Given the description of an element on the screen output the (x, y) to click on. 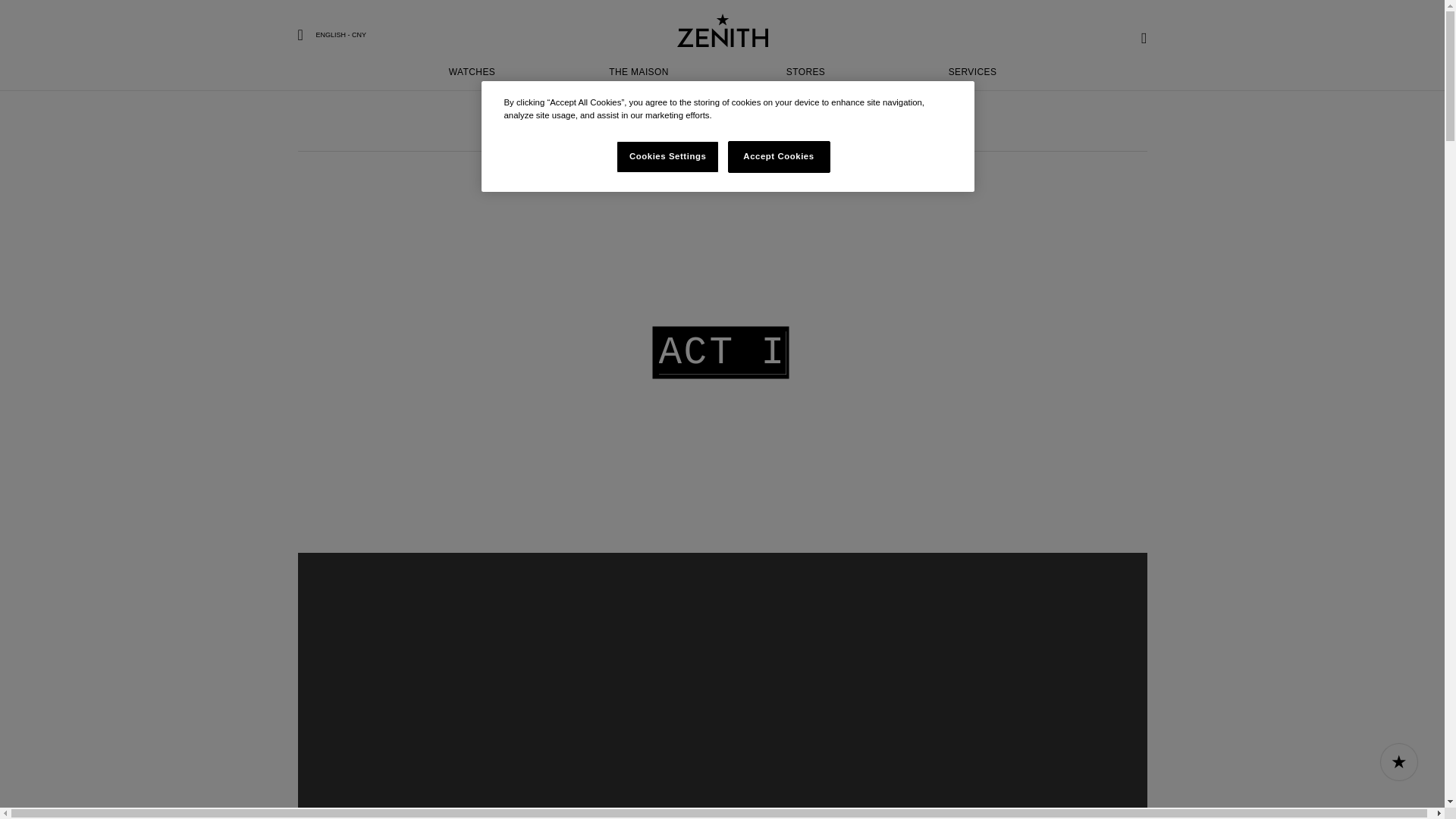
Logo ZENITH Watches, to home page (722, 45)
ENGLISH - CNY (721, 25)
